Given the description of an element on the screen output the (x, y) to click on. 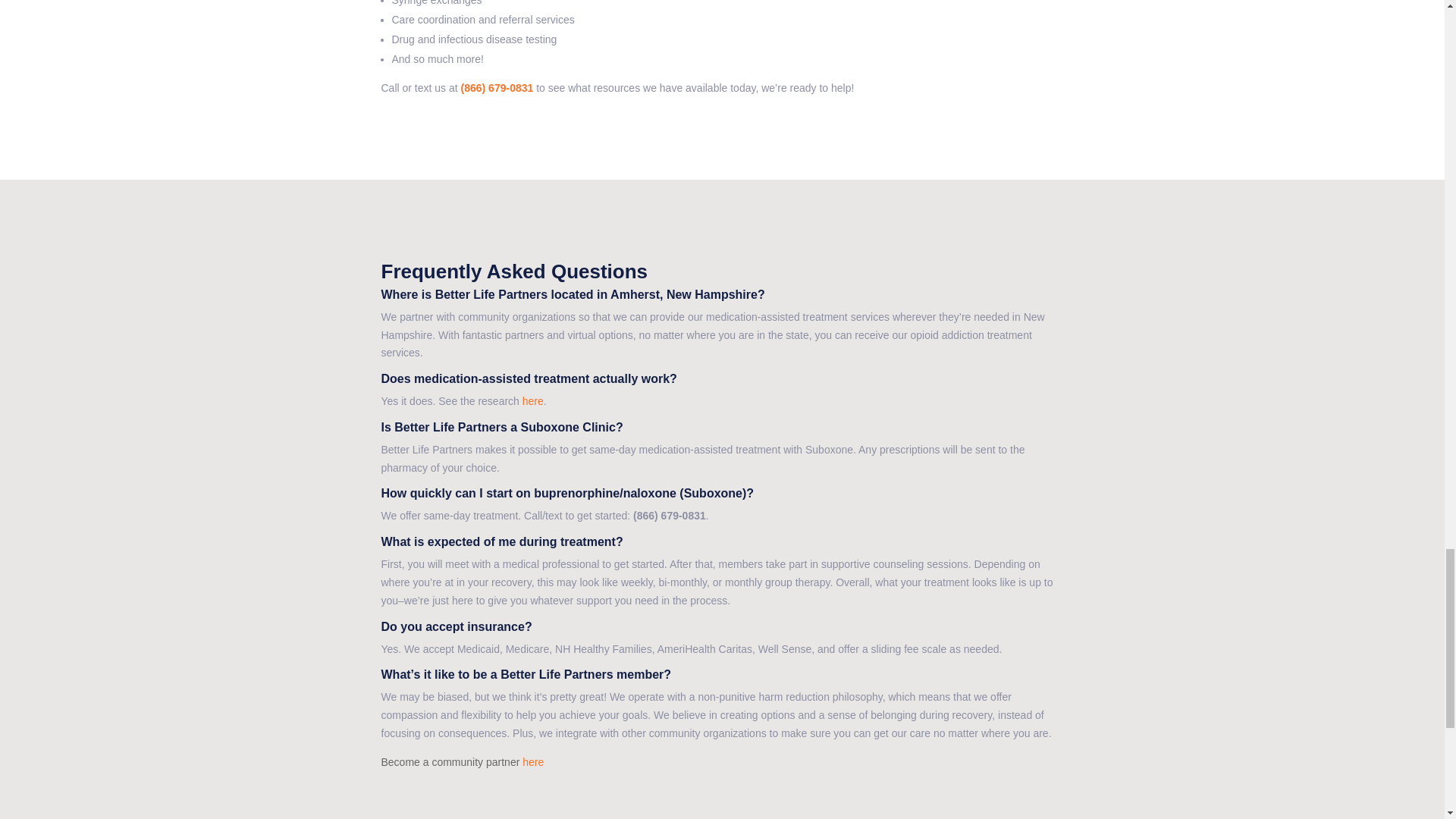
here (532, 761)
here (532, 400)
